Given the description of an element on the screen output the (x, y) to click on. 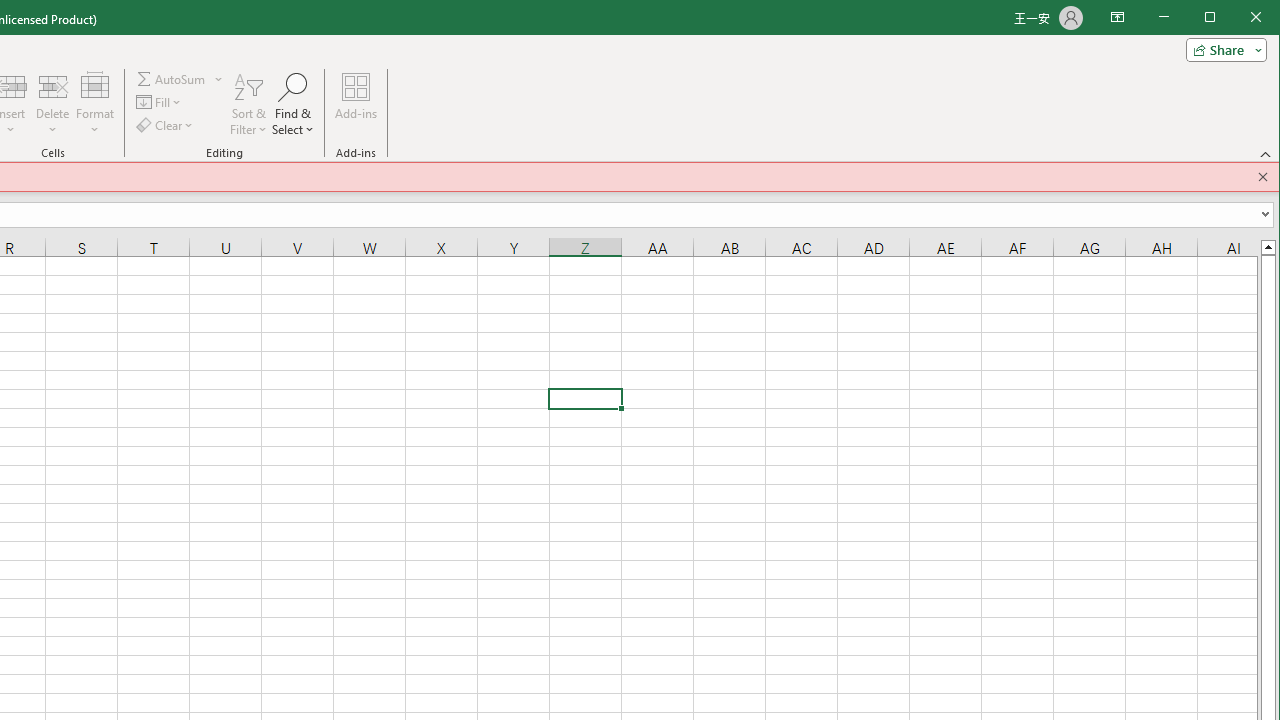
Format (95, 104)
